Given the description of an element on the screen output the (x, y) to click on. 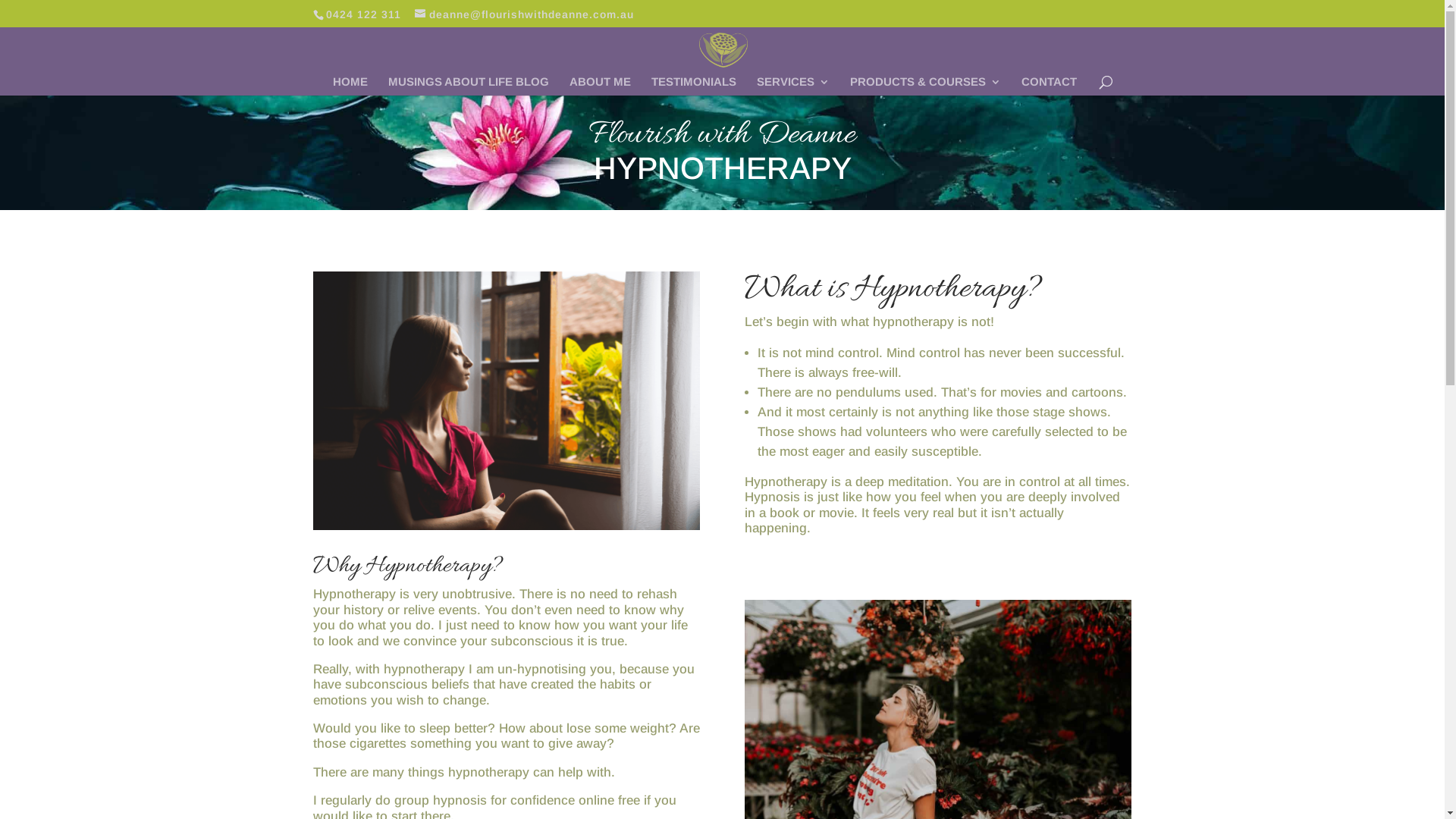
deanne@flourishwithdeanne.com.au Element type: text (523, 13)
MUSINGS ABOUT LIFE BLOG Element type: text (468, 85)
TESTIMONIALS Element type: text (692, 85)
ABOUT ME Element type: text (599, 85)
0424 122 311 Element type: text (363, 13)
SERVICES Element type: text (792, 85)
CONTACT Element type: text (1048, 85)
HOME Element type: text (349, 85)
PRODUCTS & COURSES Element type: text (924, 85)
